Given the description of an element on the screen output the (x, y) to click on. 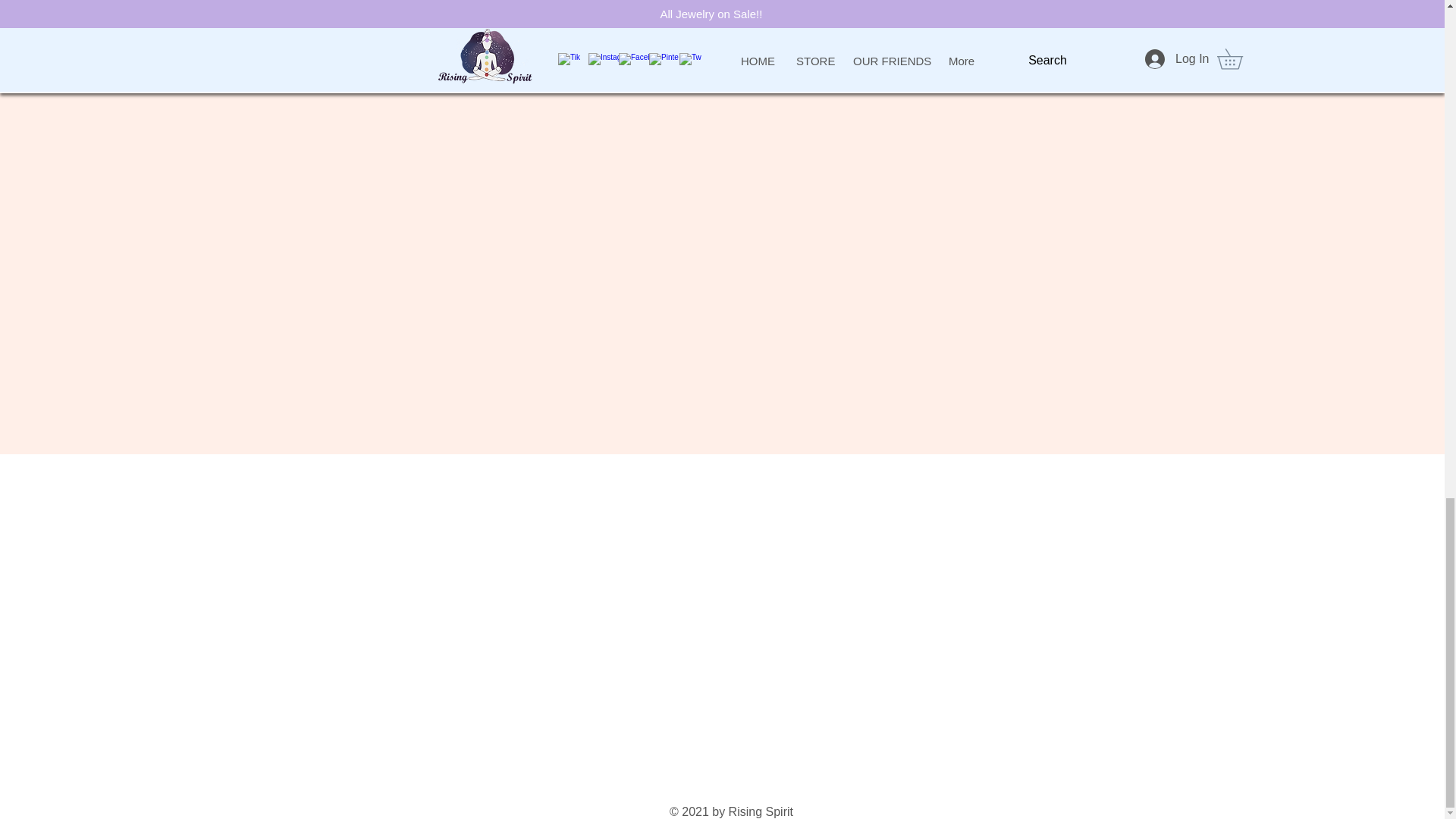
Payment Methods  (195, 48)
FAQ (156, 72)
Terms of Service (189, 3)
